Given the description of an element on the screen output the (x, y) to click on. 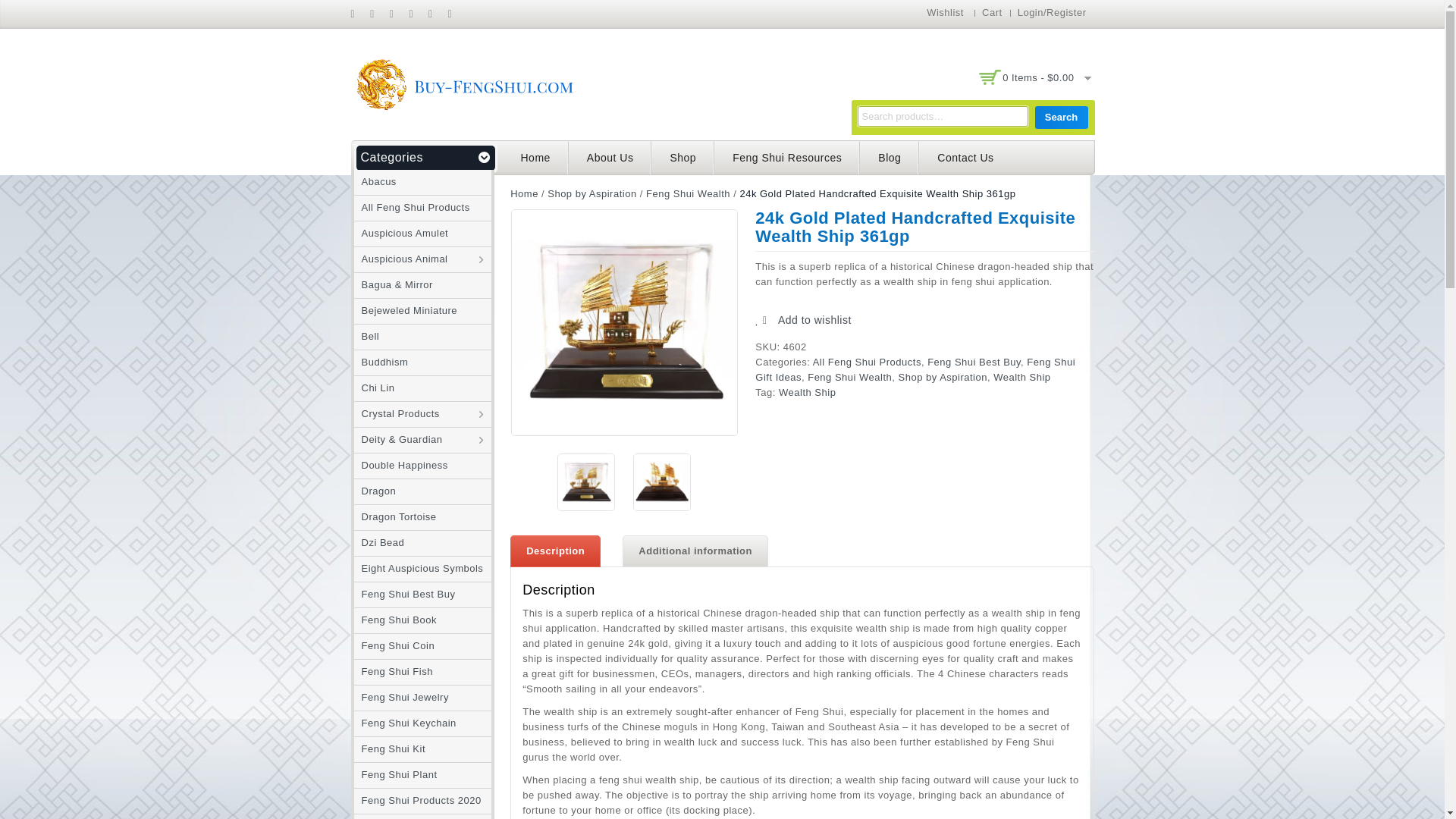
Buddhism (380, 361)
Abacus (374, 181)
Wishlist (944, 12)
Chi Lin (373, 387)
24k Gold Plated Handcrafted Exquisite Wealth Ship1 (624, 322)
Buy-FengShui.com (464, 83)
Search (1060, 117)
24k Gold Plated Handcrafted Exquisite Wealth Ship1 (585, 482)
Bell (365, 336)
Bejeweled Miniature (405, 310)
View your shopping cart (1038, 77)
24k Gold Plated Handcrafted Exquisite Wealth Ship2 (661, 482)
Auspicious Amulet (400, 233)
All Feng Shui Products (410, 206)
View your shopping cart (1034, 78)
